Given the description of an element on the screen output the (x, y) to click on. 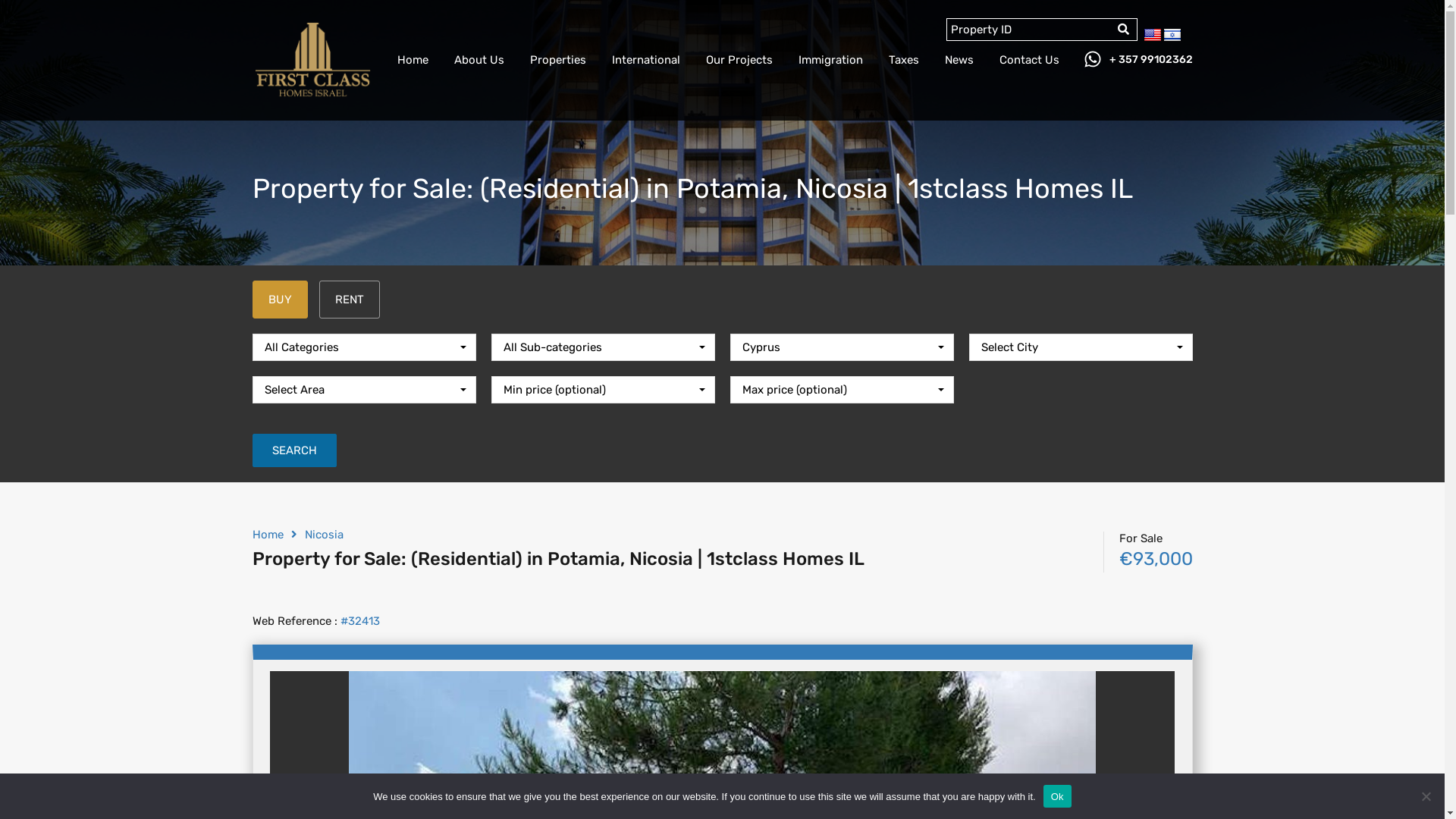
Immigration Element type: text (830, 59)
No Element type: hover (1425, 795)
Cyprus Element type: text (841, 346)
Min price (optional) Element type: text (603, 389)
1stclass Israel Element type: hover (311, 94)
Home Element type: text (266, 534)
+ 357 99102362 Element type: text (1150, 59)
All Sub-categories Element type: text (603, 346)
Max price (optional) Element type: text (841, 389)
All Categories Element type: text (363, 346)
Select City Element type: text (1080, 346)
Home Element type: text (411, 59)
Properties Element type: text (558, 59)
International Element type: text (646, 59)
Contact Us Element type: text (1028, 59)
English Element type: hover (1152, 35)
Nicosia Element type: text (323, 534)
About Us Element type: text (479, 59)
Our Projects Element type: text (739, 59)
Hebrew Element type: hover (1172, 35)
SEARCH Element type: text (293, 450)
Select Area Element type: text (363, 389)
 #32413 Element type: text (357, 620)
Taxes Element type: text (903, 59)
News Element type: text (958, 59)
Ok Element type: text (1057, 795)
